Given the description of an element on the screen output the (x, y) to click on. 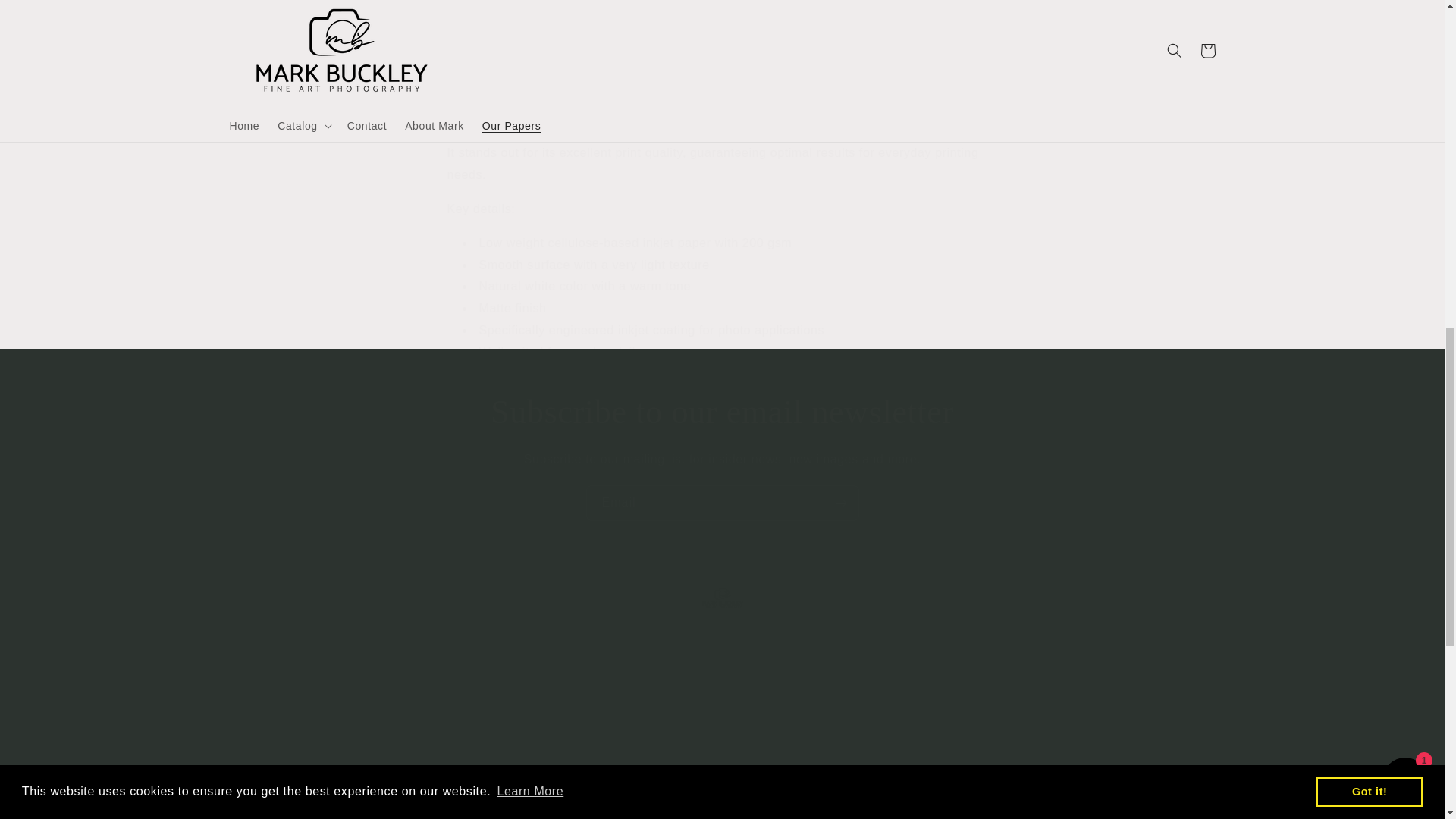
Email (722, 502)
Subscribe to our email newsletter (721, 412)
